Given the description of an element on the screen output the (x, y) to click on. 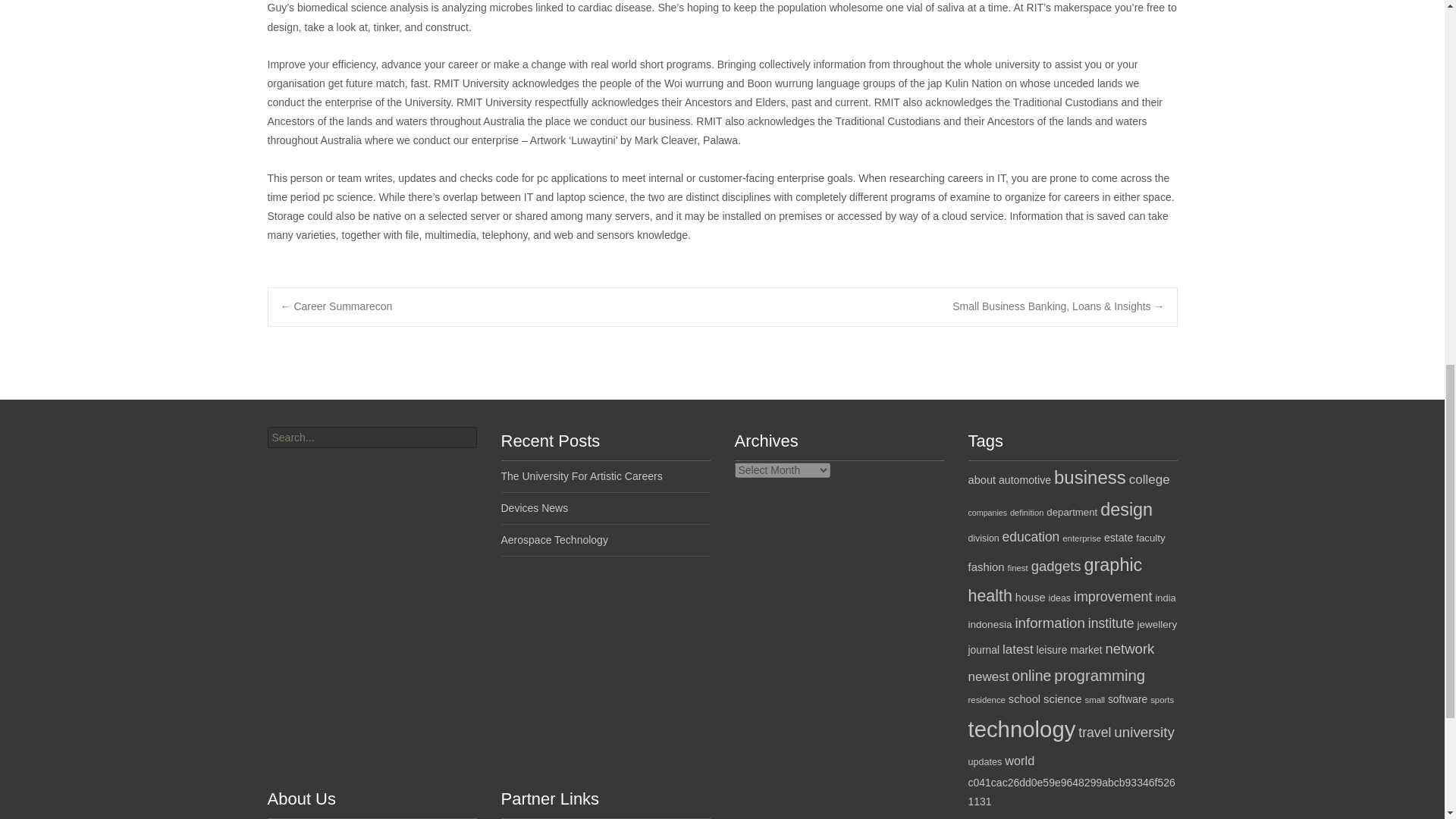
division (983, 538)
department (1071, 511)
design (1126, 509)
business (1089, 476)
enterprise (1081, 537)
about (981, 480)
companies (987, 511)
education (1031, 536)
Aerospace Technology (553, 539)
Devices News (533, 508)
automotive (1024, 480)
fashion (986, 567)
college (1149, 479)
Search for: (371, 436)
definition (1026, 511)
